Given the description of an element on the screen output the (x, y) to click on. 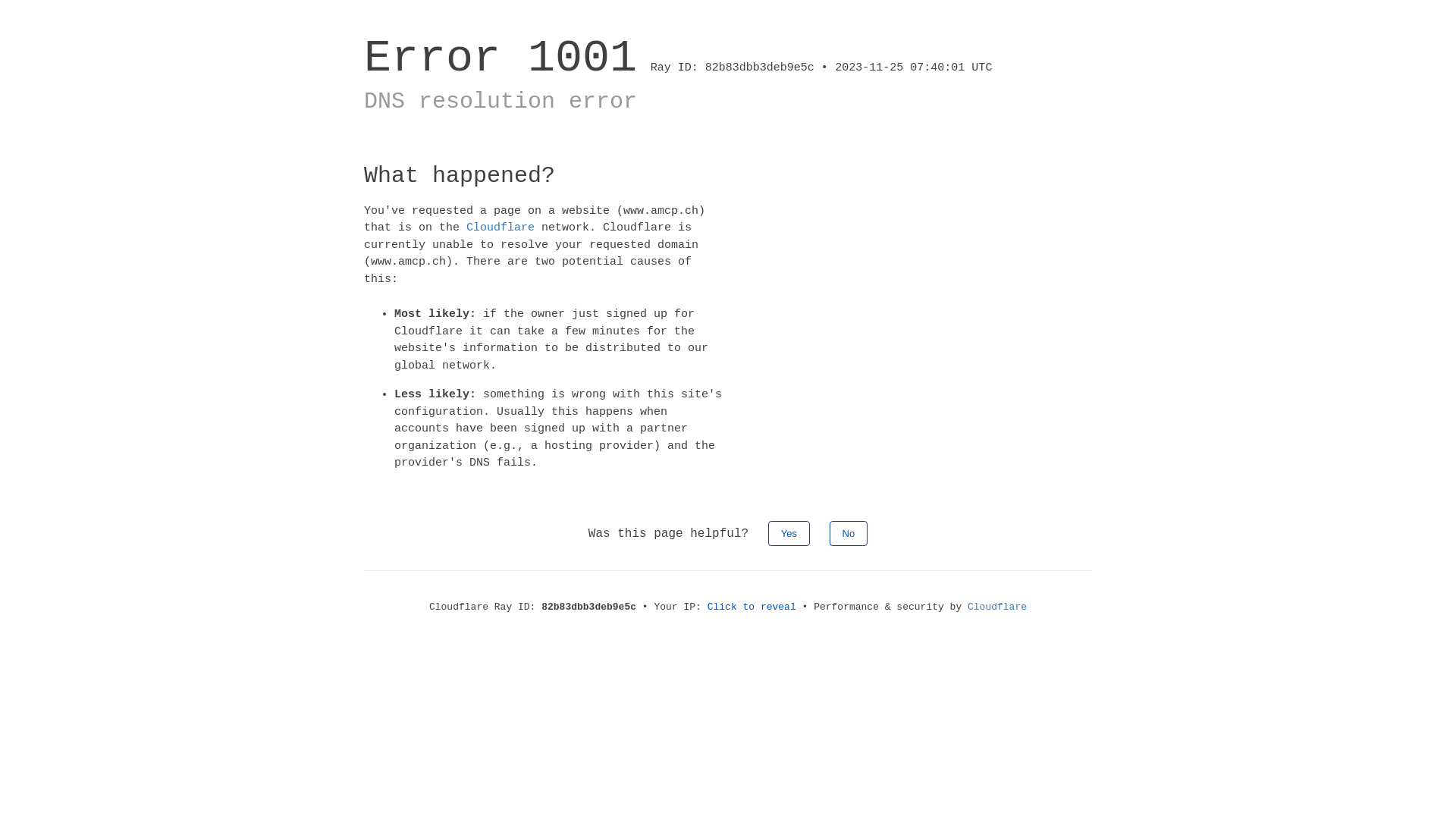
Cloudflare Element type: text (996, 605)
Cloudflare Element type: text (500, 227)
Click to reveal Element type: text (751, 605)
Yes Element type: text (788, 532)
No Element type: text (848, 532)
